Given the description of an element on the screen output the (x, y) to click on. 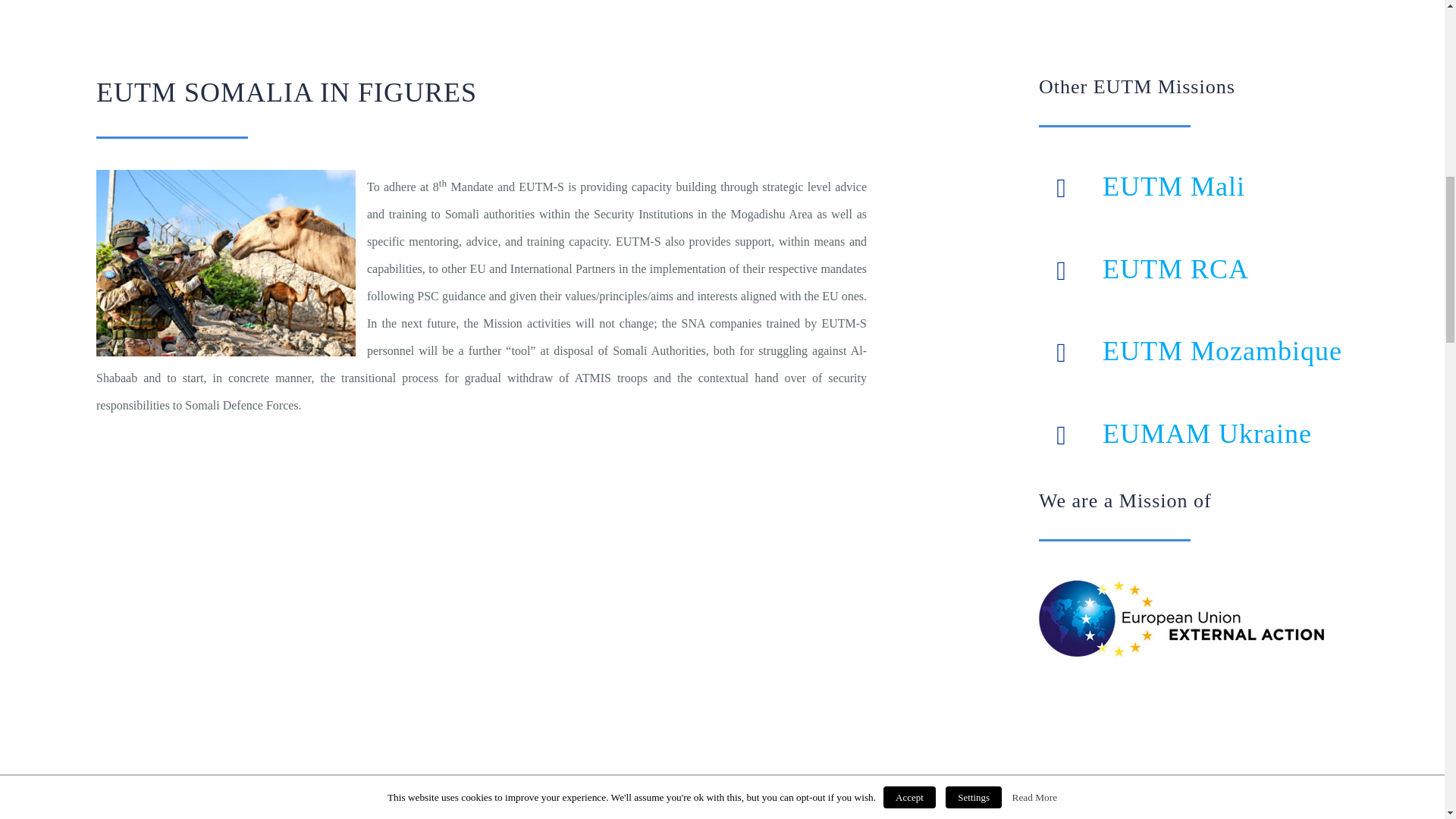
EUTM Mali (1173, 186)
EUTM RCA (1175, 268)
EUTM Mozambique (1222, 350)
EUMAM Ukraine (1206, 433)
